Given the description of an element on the screen output the (x, y) to click on. 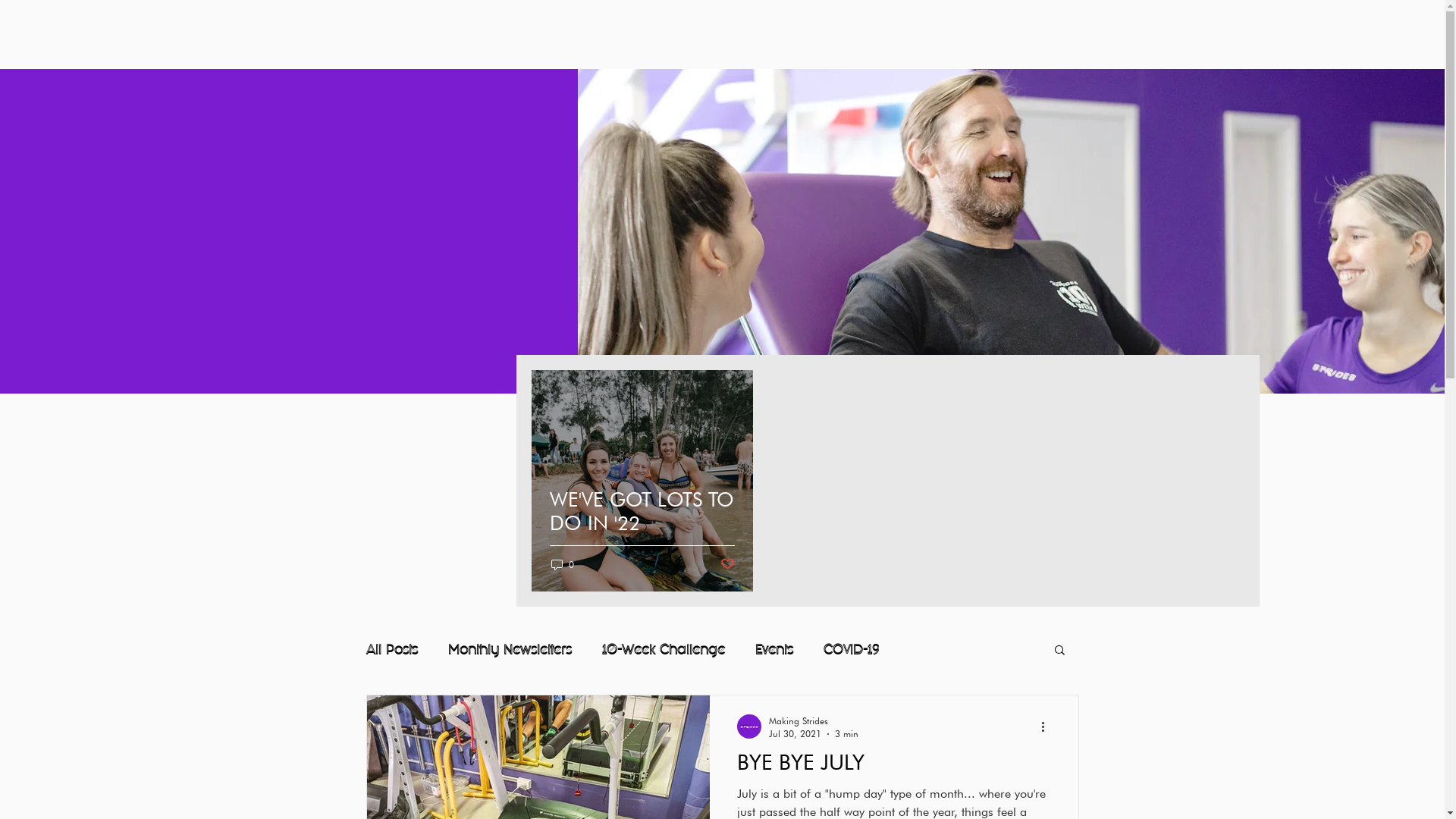
10-Week Challenge Element type: text (663, 648)
All Posts Element type: text (391, 648)
Making Strides Element type: text (813, 720)
COVID-19 Element type: text (850, 648)
Post not marked as liked Element type: text (727, 564)
BYE BYE JULY Element type: text (894, 766)
Monthly Newsletters Element type: text (509, 648)
0 Element type: text (561, 563)
WE'VE GOT LOTS TO DO IN '22 Element type: text (641, 528)
Events Element type: text (774, 648)
